Given the description of an element on the screen output the (x, y) to click on. 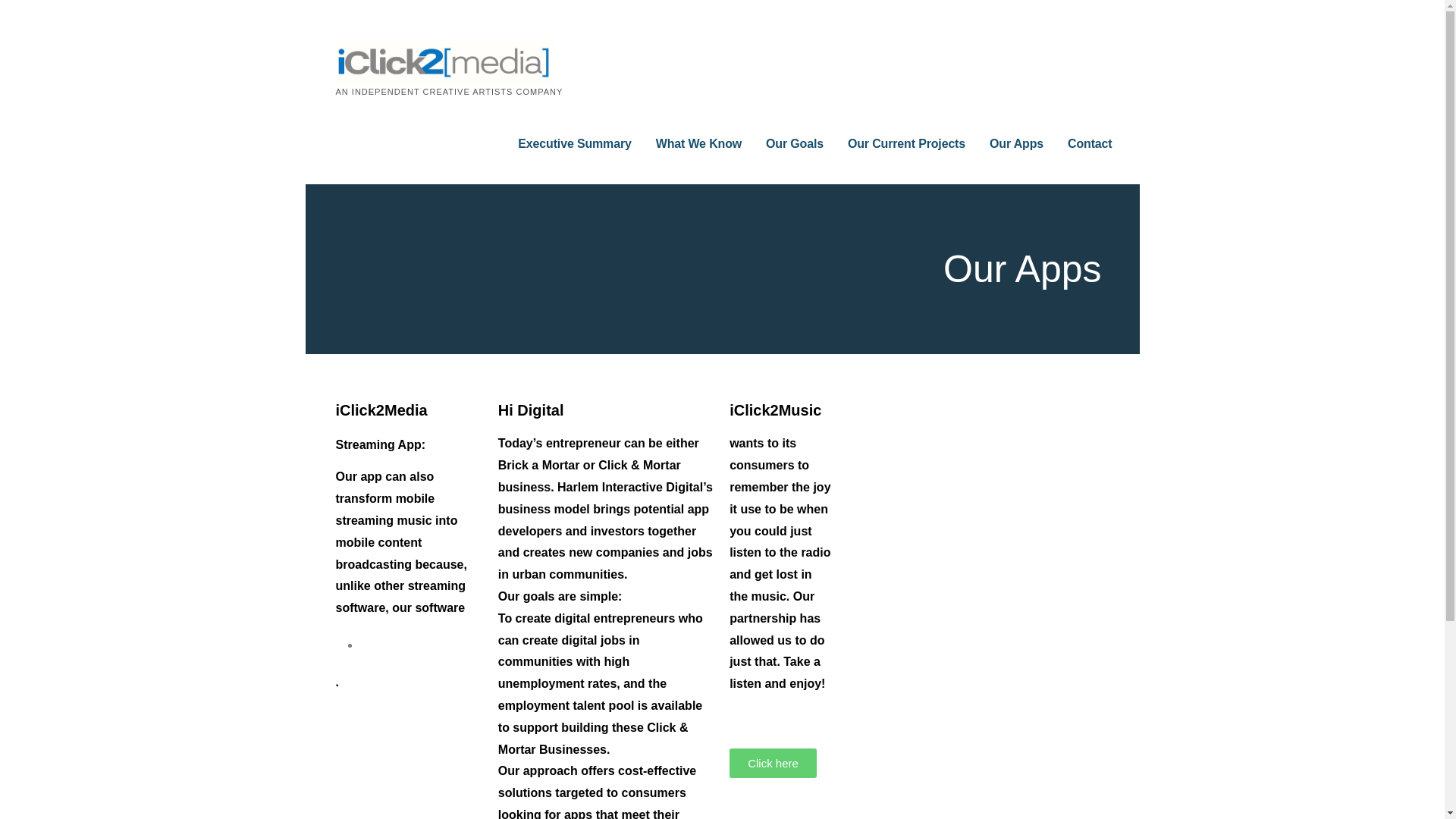
Our Current Projects (906, 144)
Click here (772, 763)
Executive Summary (574, 144)
Our Goals (794, 144)
Contact (1089, 144)
What We Know (698, 144)
Our Apps (1016, 144)
